Given the description of an element on the screen output the (x, y) to click on. 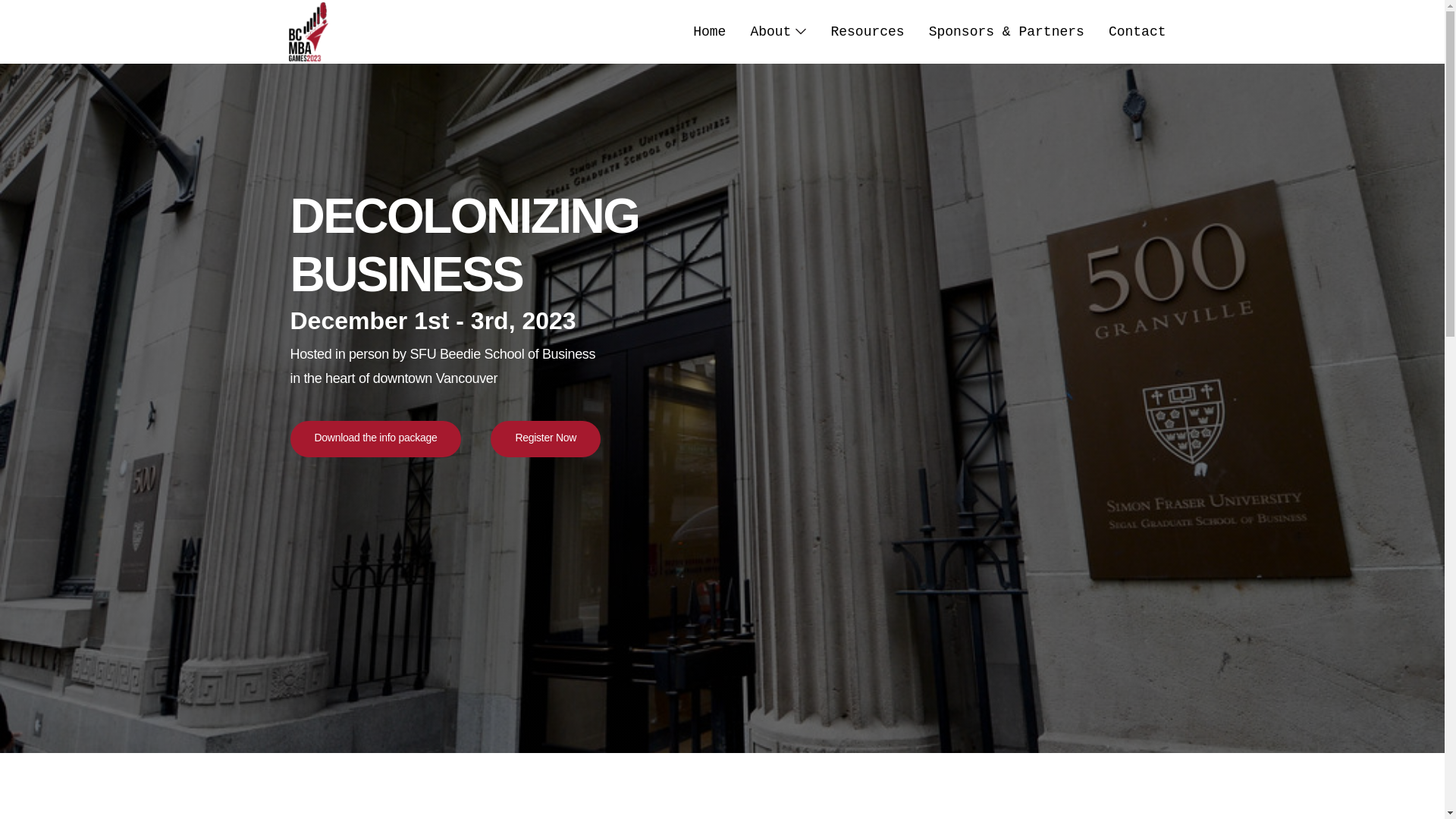
Sponsors & Partners Element type: text (1006, 31)
Register Now Element type: text (545, 438)
Home Element type: text (709, 31)
Contact Element type: text (1137, 31)
Resources Element type: text (866, 31)
Download the info package Element type: text (375, 438)
